Given the description of an element on the screen output the (x, y) to click on. 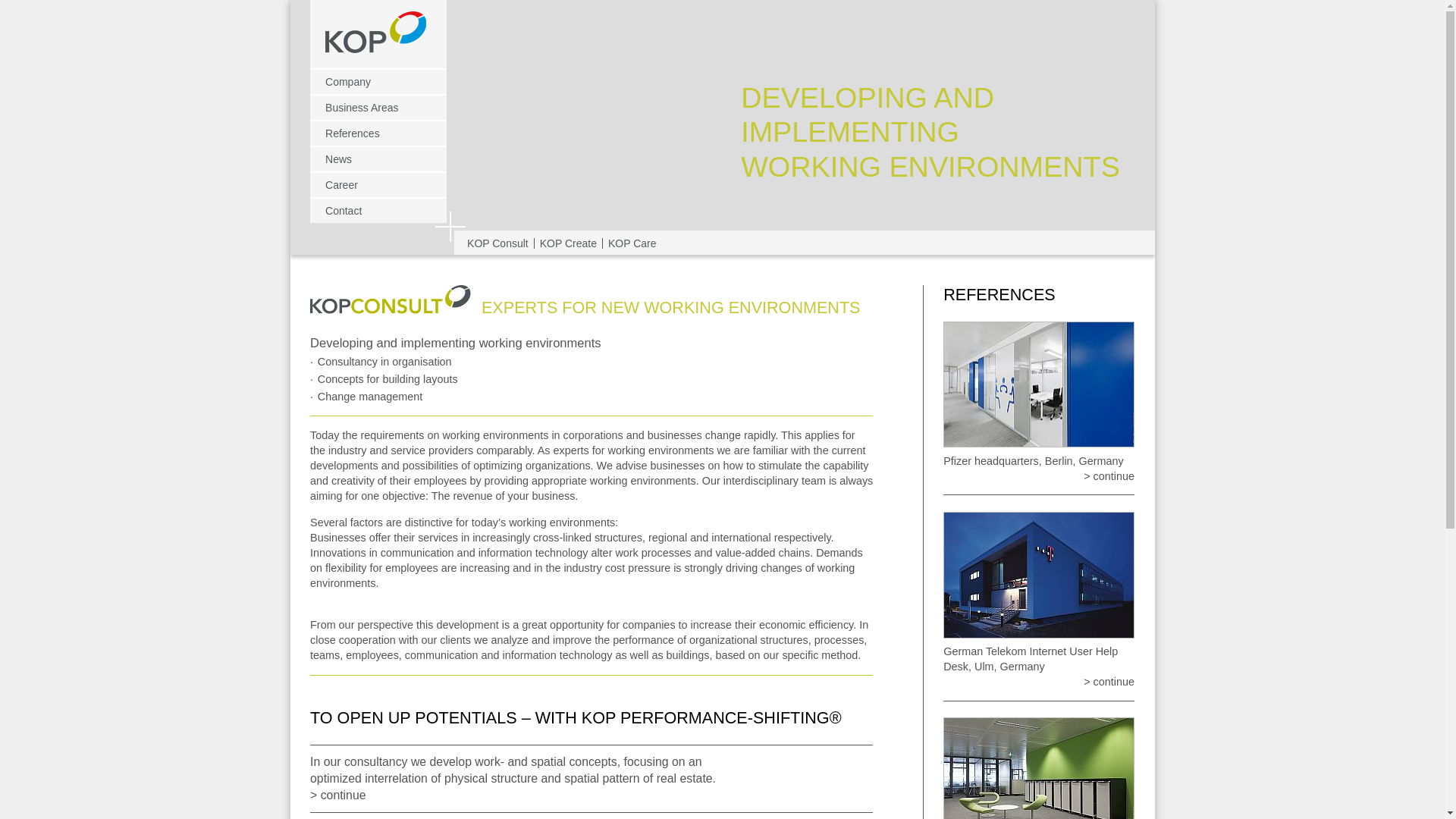
Career (378, 184)
KOP Care (632, 243)
KOP Consult (497, 243)
KOP (379, 39)
References (378, 132)
News (378, 158)
Company (378, 80)
KOP Create (568, 243)
Business Areas (378, 106)
Contact (378, 209)
